Given the description of an element on the screen output the (x, y) to click on. 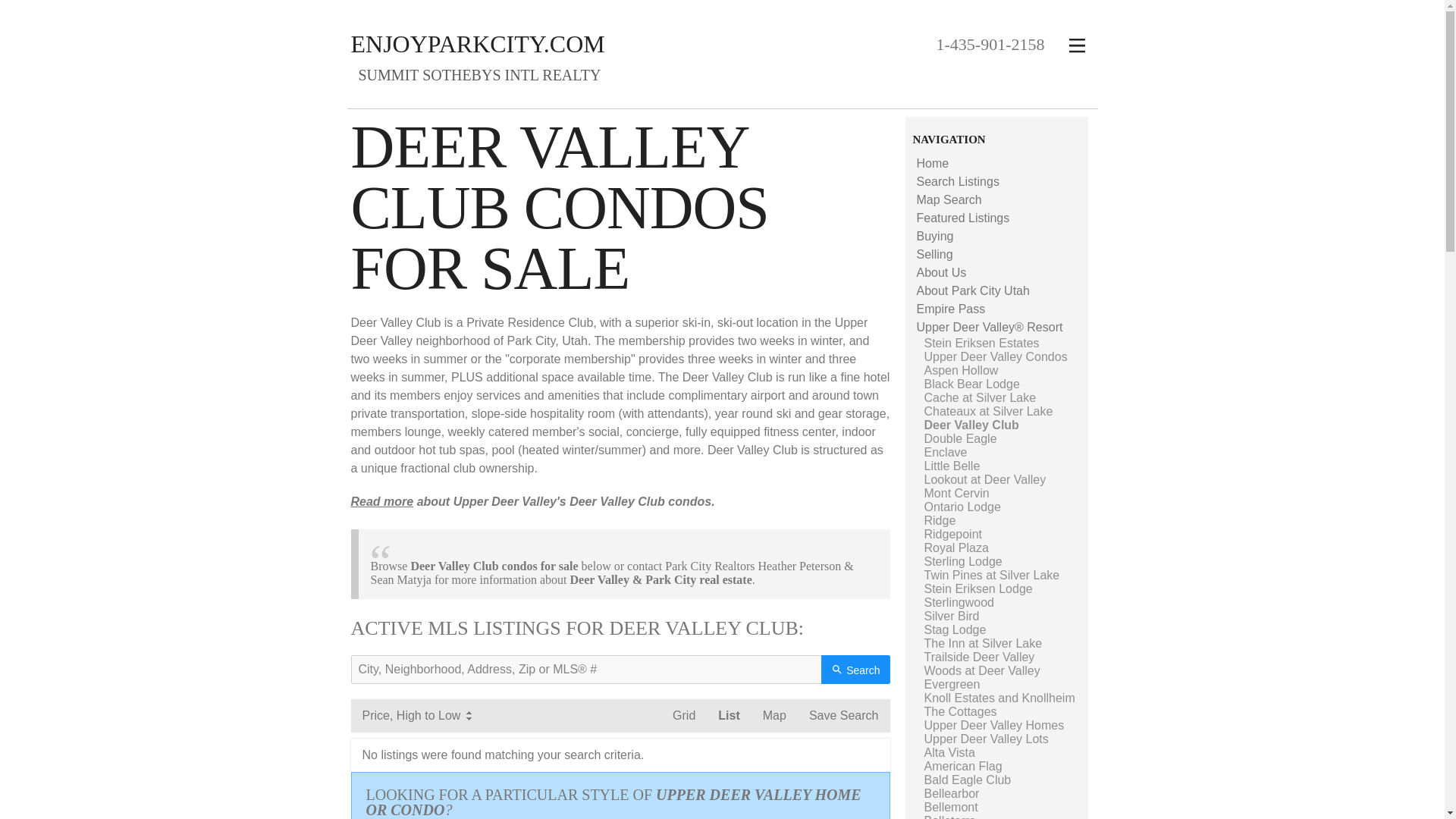
Map Search (948, 199)
Save Search (843, 715)
Search (855, 669)
Cache at Silver Lake (979, 397)
contact (644, 565)
Price, High to Low (415, 715)
Black Bear Lodge (971, 383)
Chateaux at Silver Lake (987, 410)
Deer Valley Club (970, 424)
1-435-901-2158 (990, 44)
